Given the description of an element on the screen output the (x, y) to click on. 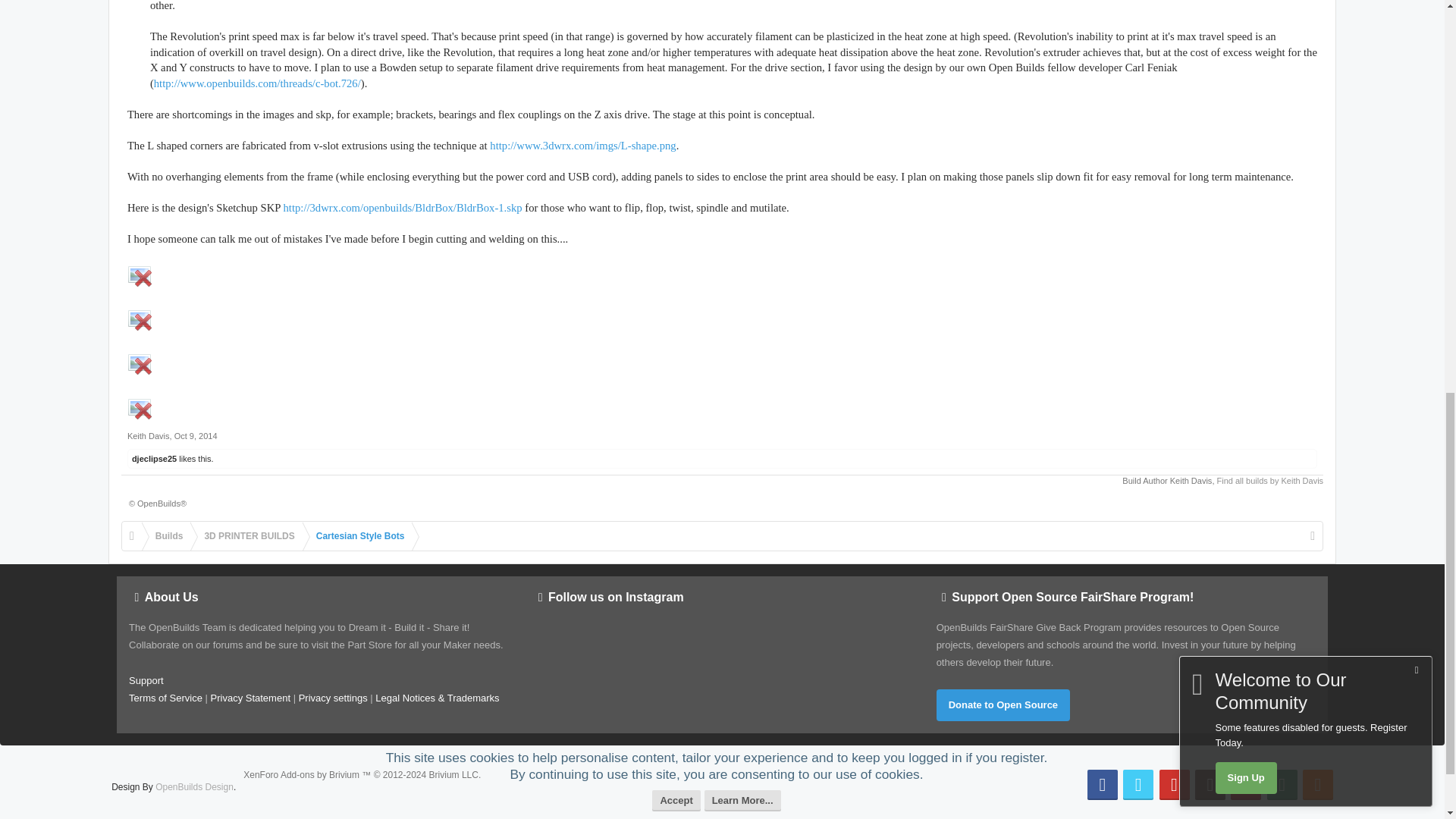
Build Author (1191, 480)
Permalink (195, 435)
contact us (146, 680)
OpenBuilds,LLC Themes (193, 787)
Brivium Limited (361, 774)
